Given the description of an element on the screen output the (x, y) to click on. 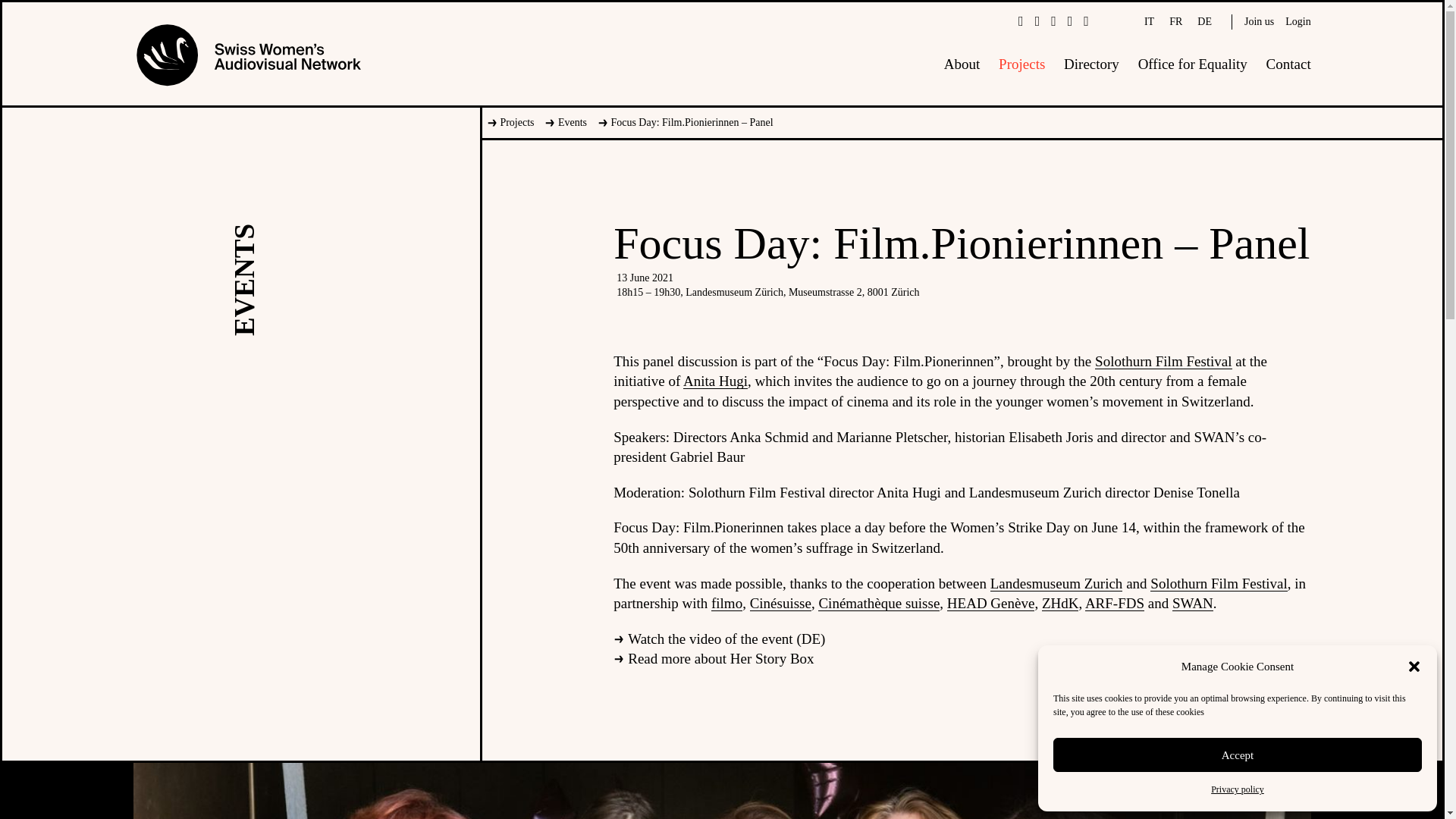
Accept (1237, 754)
